Given the description of an element on the screen output the (x, y) to click on. 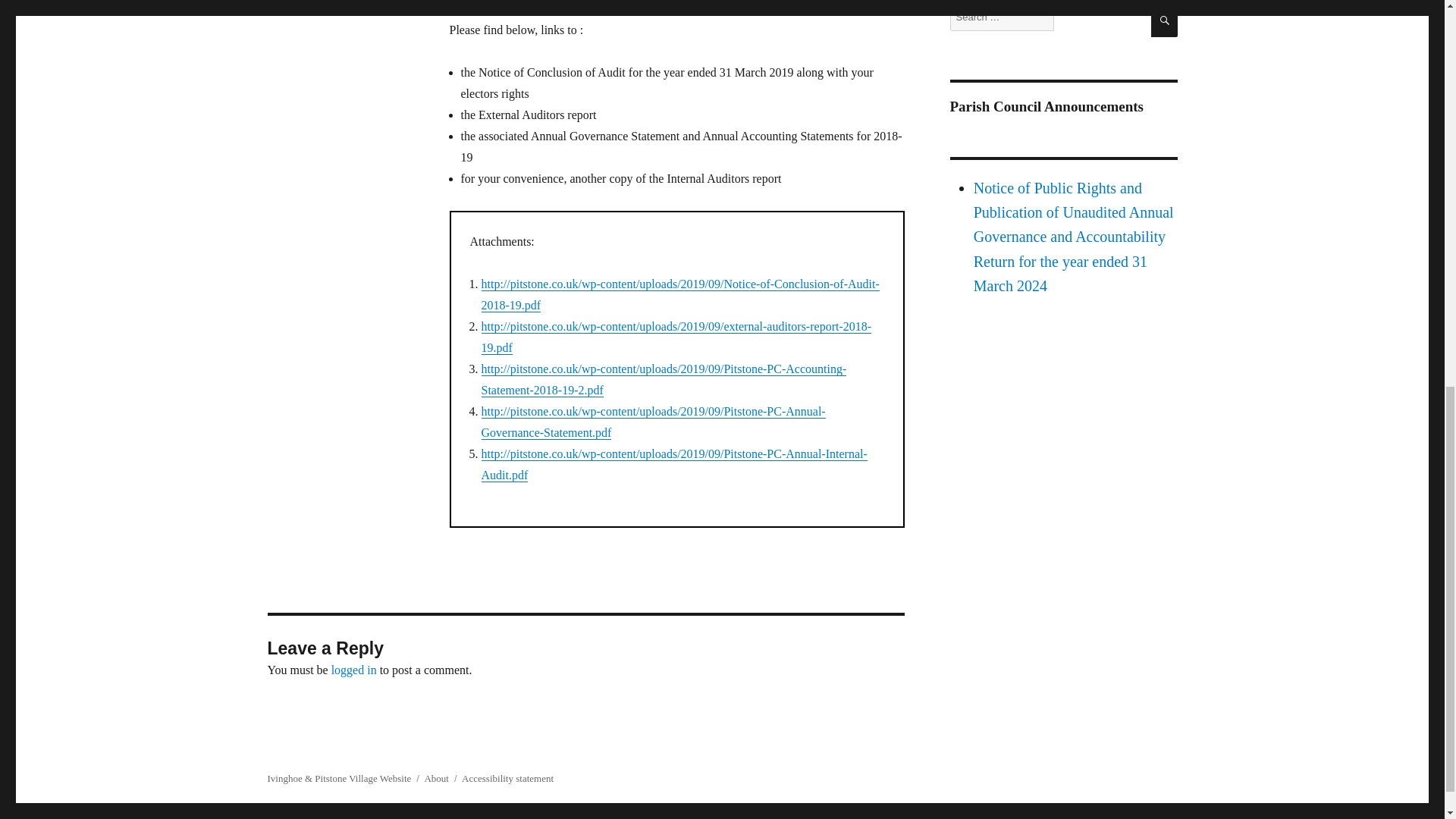
logged in (354, 669)
